Given the description of an element on the screen output the (x, y) to click on. 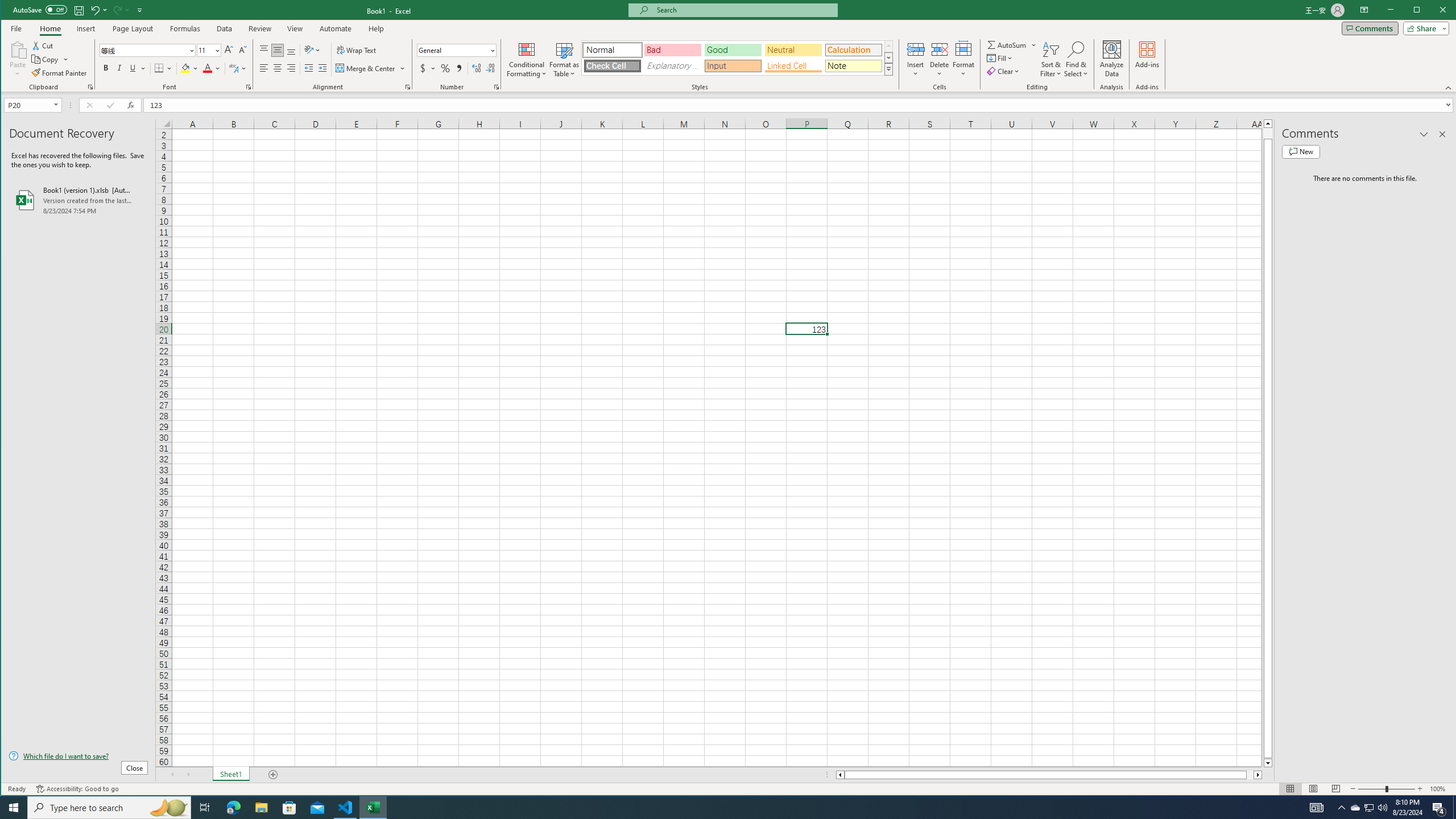
Percent Style (445, 68)
Format Cell Alignment (407, 86)
Middle Align (276, 49)
Format Painter (59, 72)
Accounting Number Format (427, 68)
Merge & Center (370, 68)
Cell Styles (887, 69)
Sum (1007, 44)
